Given the description of an element on the screen output the (x, y) to click on. 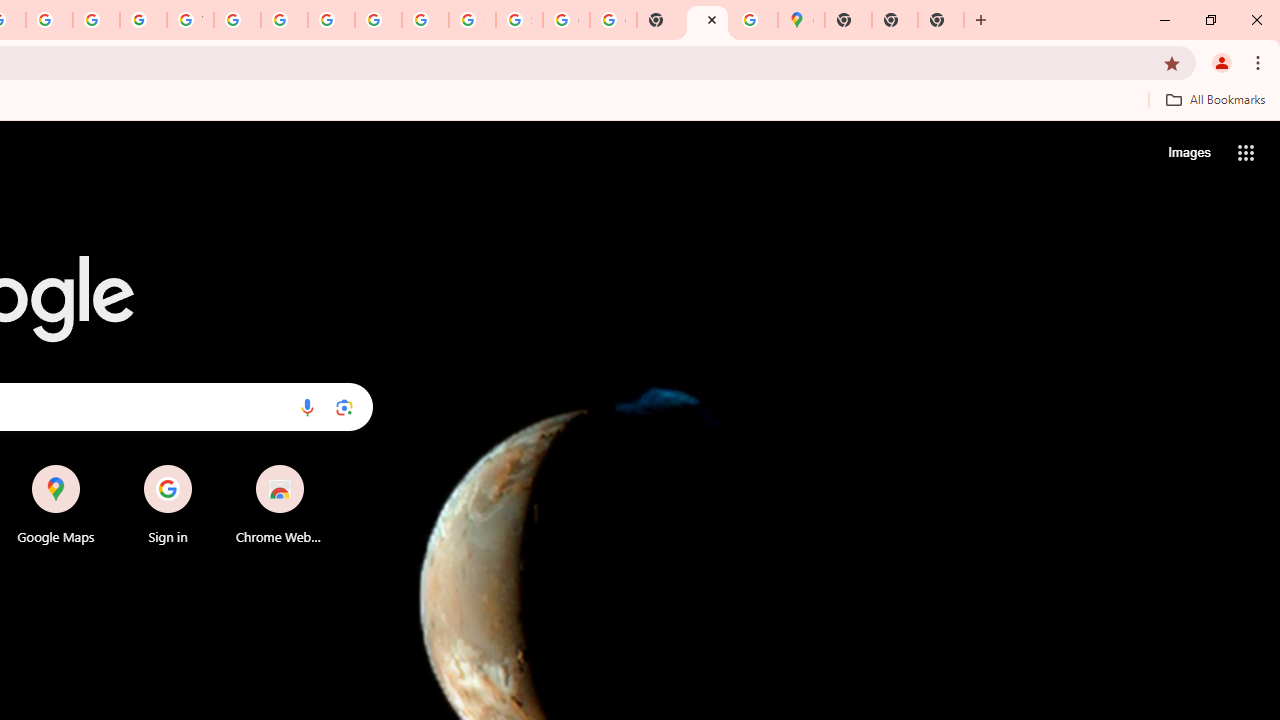
Sign in - Google Accounts (518, 20)
New Tab (940, 20)
YouTube (189, 20)
Remove (319, 466)
Use Google Maps in Space - Google Maps Help (754, 20)
Privacy Help Center - Policies Help (48, 20)
